Given the description of an element on the screen output the (x, y) to click on. 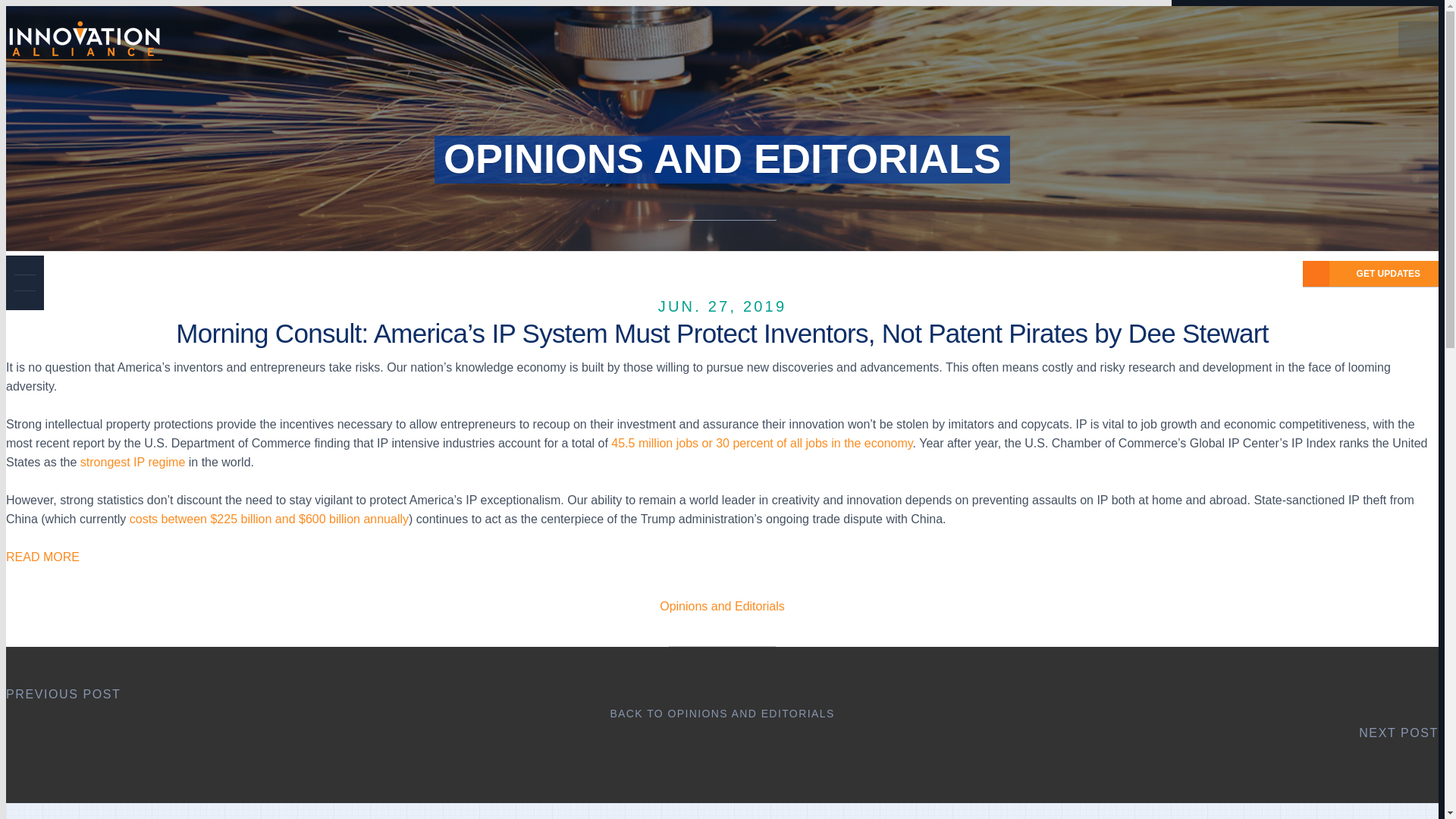
From the Alliance (1264, 75)
READ MORE (42, 556)
Contact Us (1245, 154)
45.5 million jobs or 30 percent of all jobs in the economy (761, 442)
Videos (1231, 135)
Opinions and Editorials (721, 605)
About Us (1238, 56)
BACK TO OPINIONS AND EDITORIALS (722, 713)
Research (1240, 115)
Email (24, 298)
PREVIOUS POST (62, 694)
Patent News (1250, 95)
Home (1228, 36)
strongest IP regime (132, 461)
GET UPDATES (1266, 298)
